Given the description of an element on the screen output the (x, y) to click on. 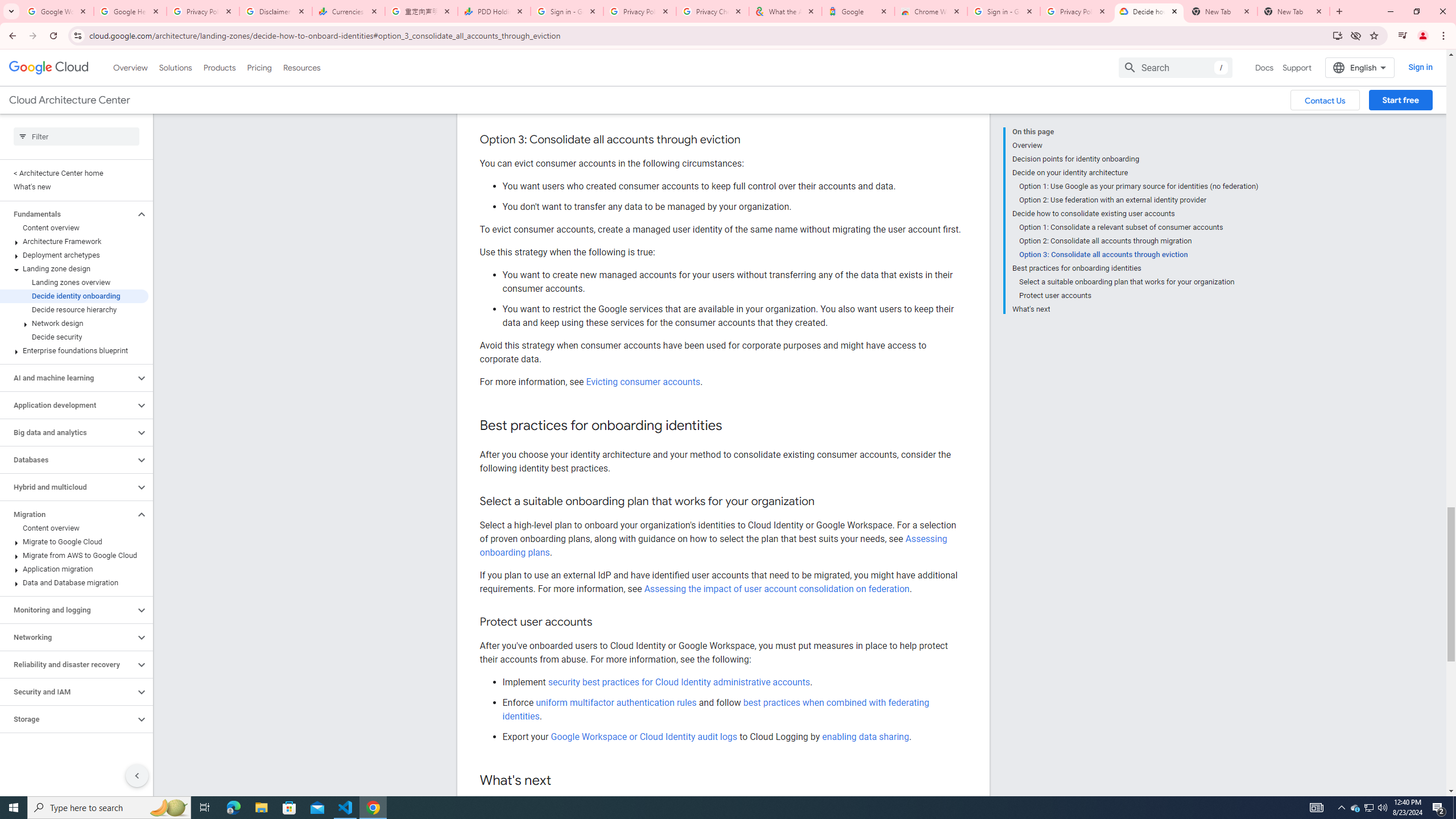
Fundamentals (67, 214)
Google (857, 11)
Google Workspace or Cloud Identity audit logs (644, 736)
New Tab (1293, 11)
Hide side navigation (136, 775)
Chrome Web Store - Color themes by Chrome (930, 11)
Storage (67, 719)
Docs, selected (1264, 67)
Decide resource hierarchy (74, 309)
Products (218, 67)
Protect user accounts (1138, 295)
Option 2: Use federation with an external identity provider (1138, 200)
